Given the description of an element on the screen output the (x, y) to click on. 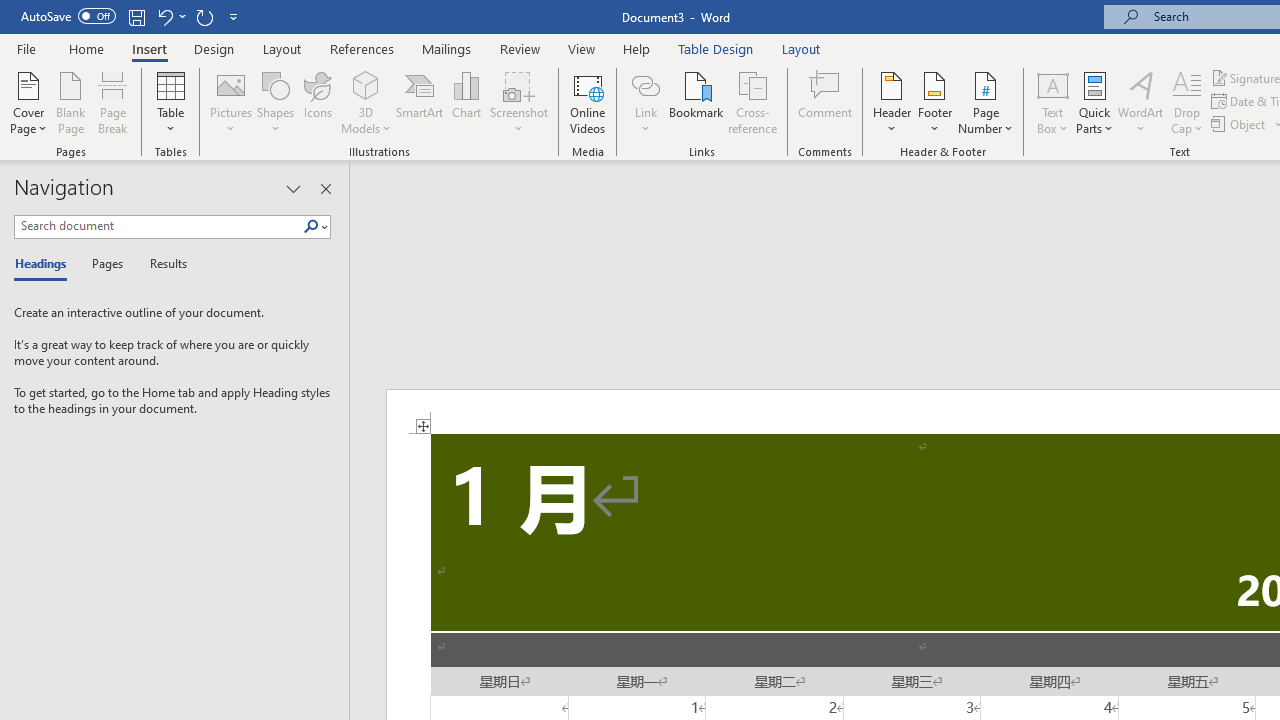
Blank Page (70, 102)
Icons (317, 102)
Table (170, 102)
Undo Increase Indent (170, 15)
Headings (45, 264)
3D Models (366, 84)
